Given the description of an element on the screen output the (x, y) to click on. 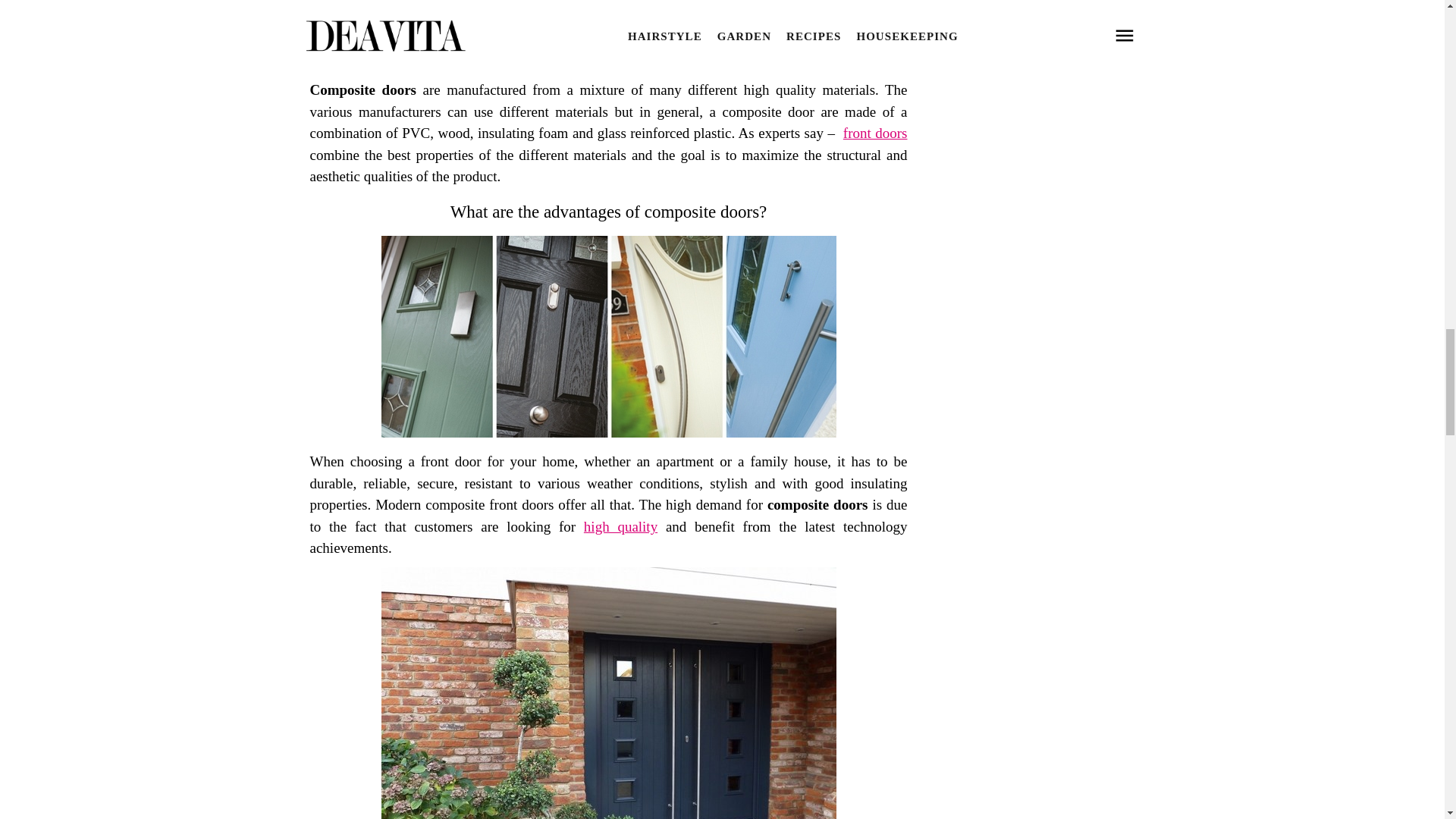
Modern front doors composite front colors glass  (607, 432)
Composite doors modern front doors house exterior design  (607, 60)
